Given the description of an element on the screen output the (x, y) to click on. 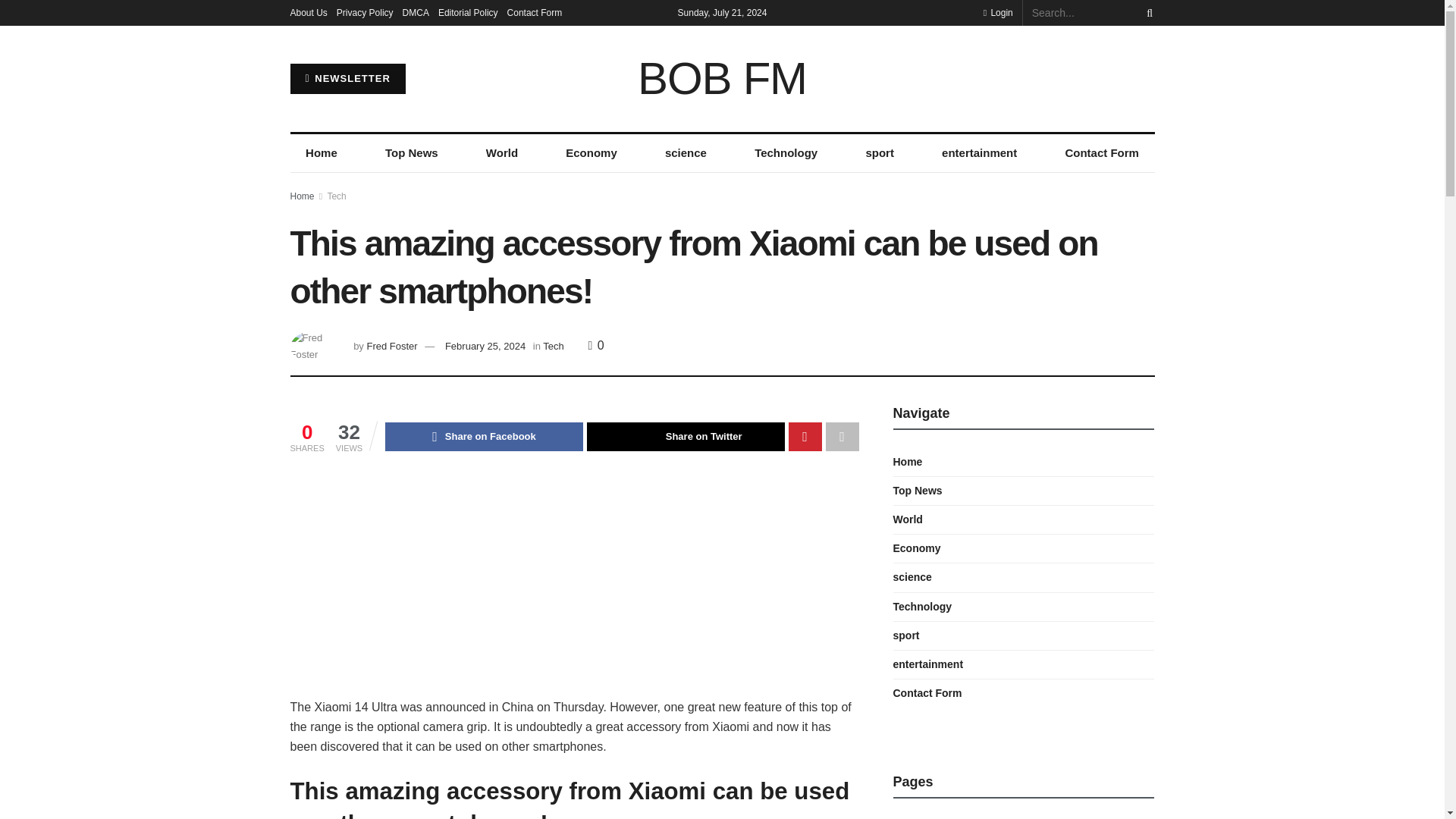
Home (320, 152)
0 (596, 345)
Editorial Policy (467, 12)
entertainment (979, 152)
Contact Form (534, 12)
DMCA (416, 12)
science (685, 152)
About Us (307, 12)
February 25, 2024 (485, 346)
Login (998, 12)
Economy (591, 152)
sport (880, 152)
Tech (336, 195)
Tech (553, 346)
Advertisement (574, 583)
